Given the description of an element on the screen output the (x, y) to click on. 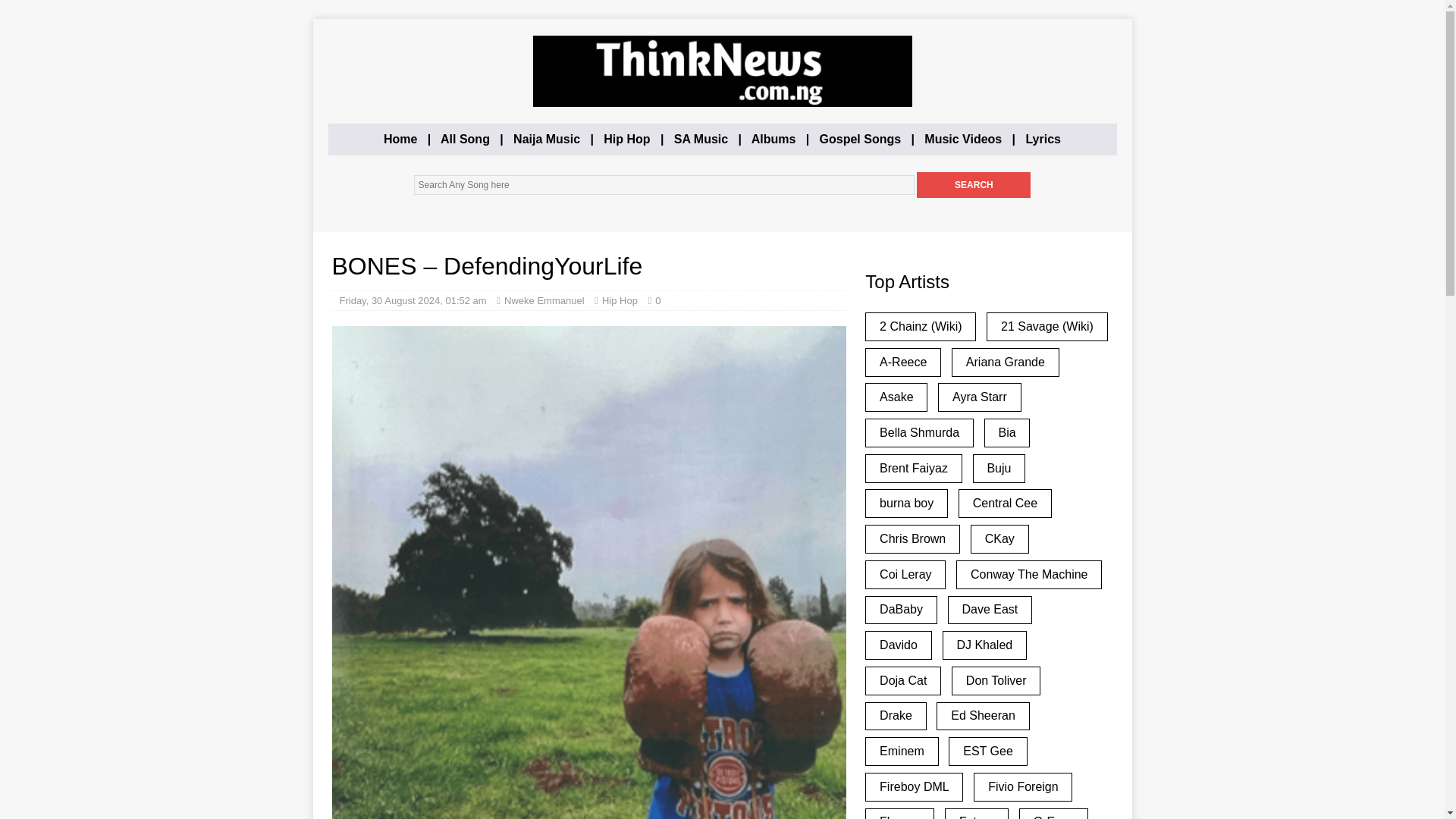
Bella Shmurda (919, 432)
Search (973, 184)
Home (400, 138)
CKay (1000, 538)
Lyrics (1043, 138)
Conway The Machine (1029, 574)
Asake (895, 397)
Search (973, 184)
DJ Khaled (984, 645)
